Given the description of an element on the screen output the (x, y) to click on. 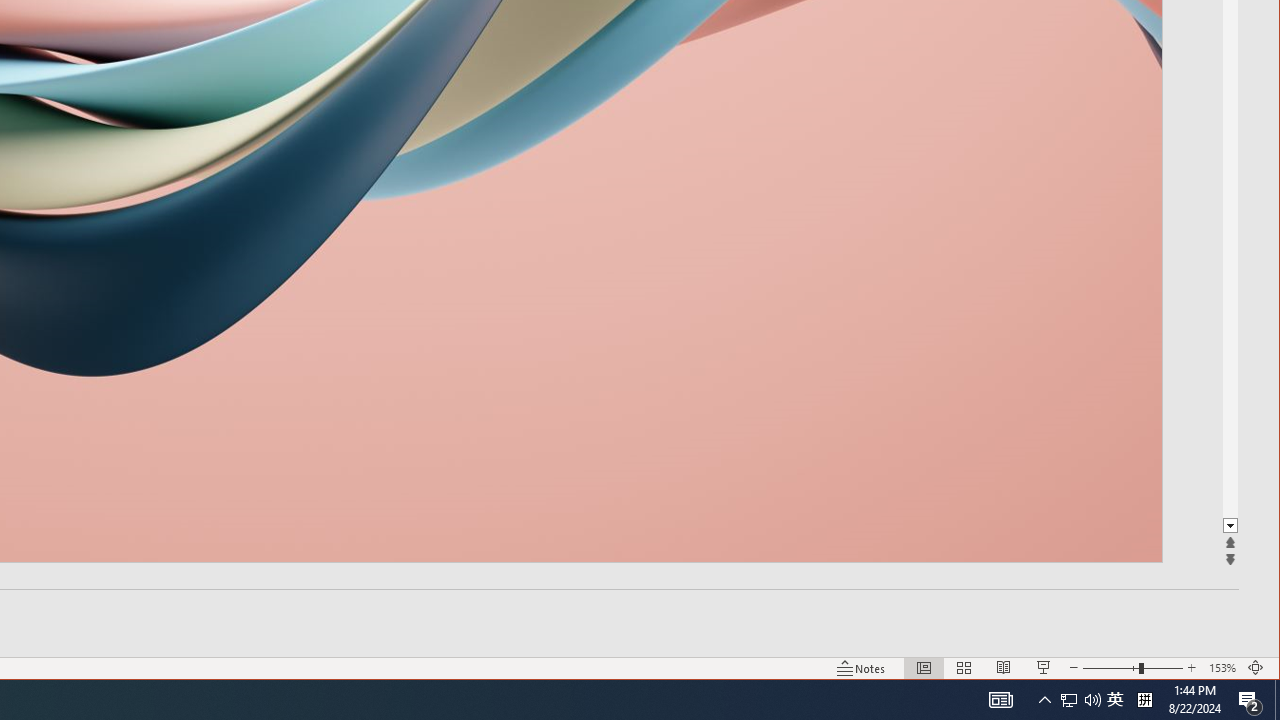
Zoom 153% (1222, 668)
